Given the description of an element on the screen output the (x, y) to click on. 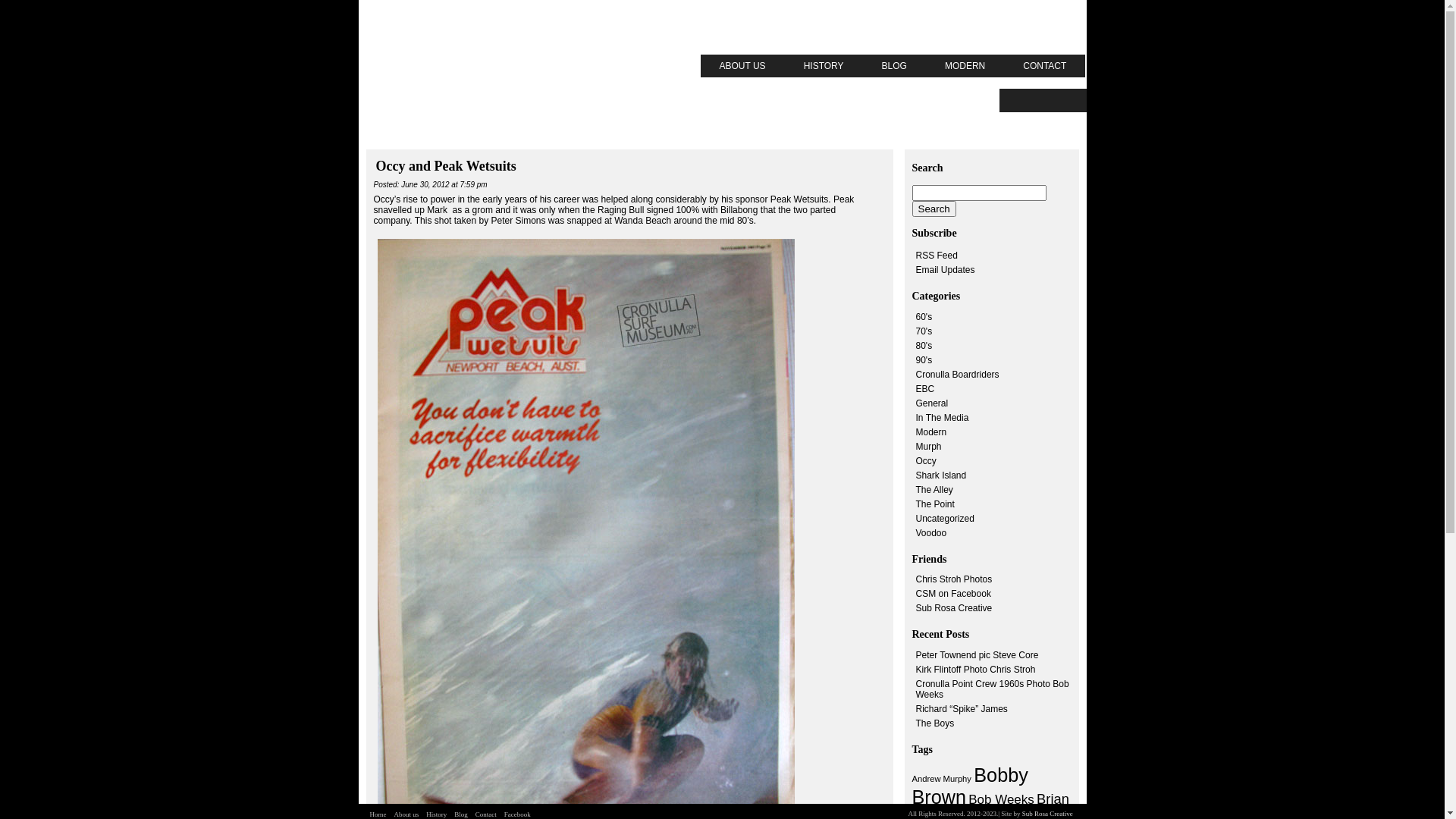
80's Element type: text (924, 345)
60's Element type: text (924, 316)
Andrew Murphy Element type: text (940, 778)
Bob Weeks Element type: text (1000, 799)
HISTORY Element type: text (823, 65)
The Alley Element type: text (934, 489)
In The Media Element type: text (942, 417)
Cronulla Boardriders Element type: text (957, 374)
Shark Island Element type: text (941, 475)
Contact Element type: text (485, 814)
MODERN Element type: text (964, 65)
CSM on Facebook Element type: text (953, 593)
Cronulla Point Crew 1960s Photo Bob Weeks Element type: text (992, 688)
Uncategorized Element type: text (945, 518)
Blog Element type: text (460, 814)
The Point Element type: text (935, 503)
The Boys Element type: text (935, 723)
Modern Element type: text (931, 431)
90's Element type: text (924, 359)
Facebook Element type: text (517, 814)
History Element type: text (436, 814)
Murph Element type: text (928, 446)
About us Element type: text (406, 814)
Email Updates Element type: text (945, 269)
EBC Element type: text (925, 388)
Bobby Brown Element type: text (969, 785)
Home Element type: text (378, 814)
Occy Element type: text (926, 460)
Chris Stroh Photos Element type: text (954, 579)
Sub Rosa Creative Element type: text (1047, 813)
Sub Rosa Creative Element type: text (954, 607)
Kirk Flintoff Photo Chris Stroh Element type: text (975, 669)
CONTACT Element type: text (1044, 65)
Peter Townend pic Steve Core Element type: text (977, 654)
70's Element type: text (924, 331)
RSS Feed Element type: text (936, 255)
General Element type: text (932, 403)
Voodoo Element type: text (931, 532)
Search Element type: text (933, 208)
ABOUT US Element type: text (742, 65)
BLOG Element type: text (894, 65)
